Given the description of an element on the screen output the (x, y) to click on. 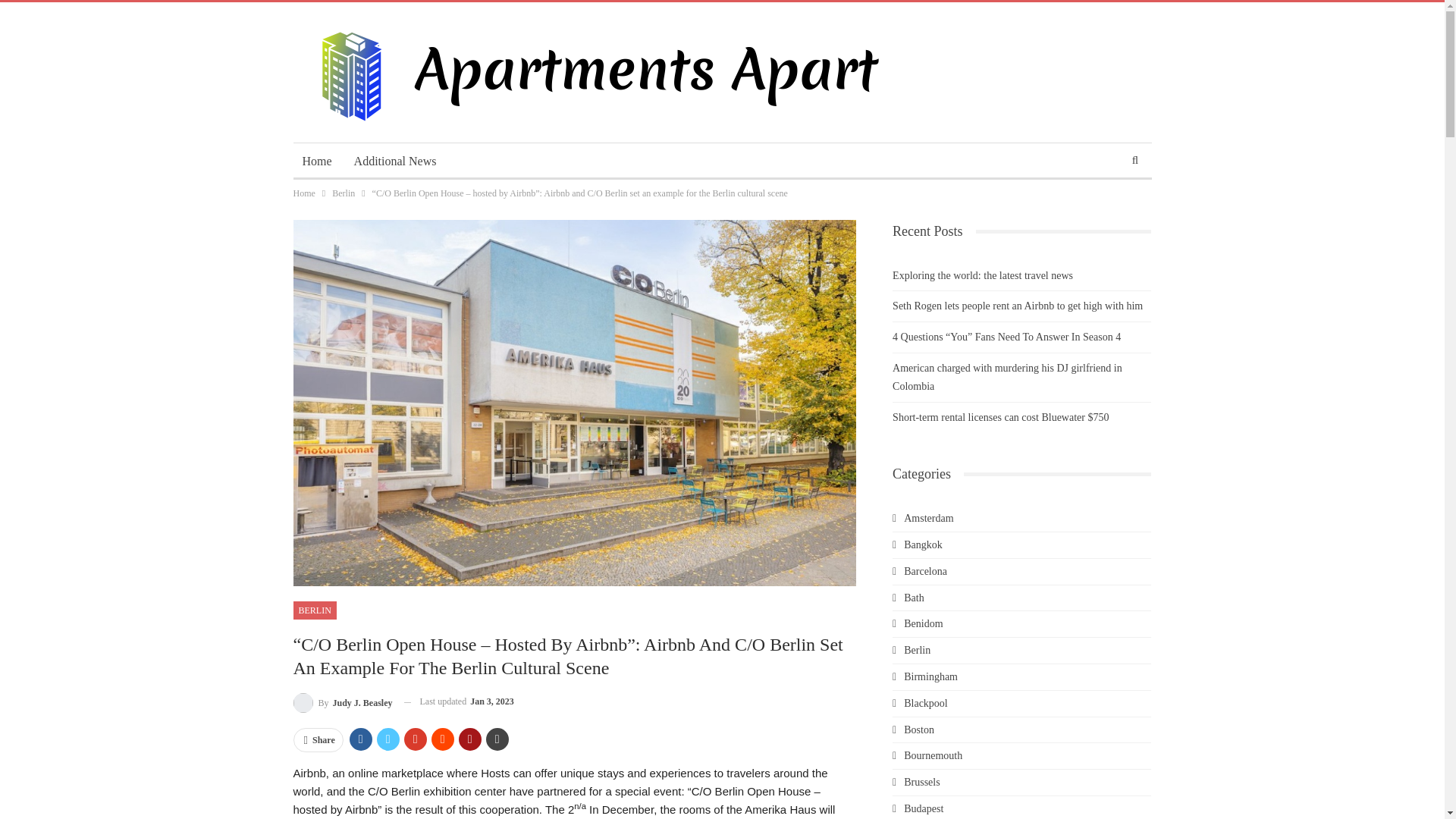
Home (316, 161)
Browse Author Articles (341, 701)
Berlin (343, 193)
By Judy J. Beasley (341, 701)
Additional News (395, 161)
BERLIN (314, 610)
Home (303, 193)
